Given the description of an element on the screen output the (x, y) to click on. 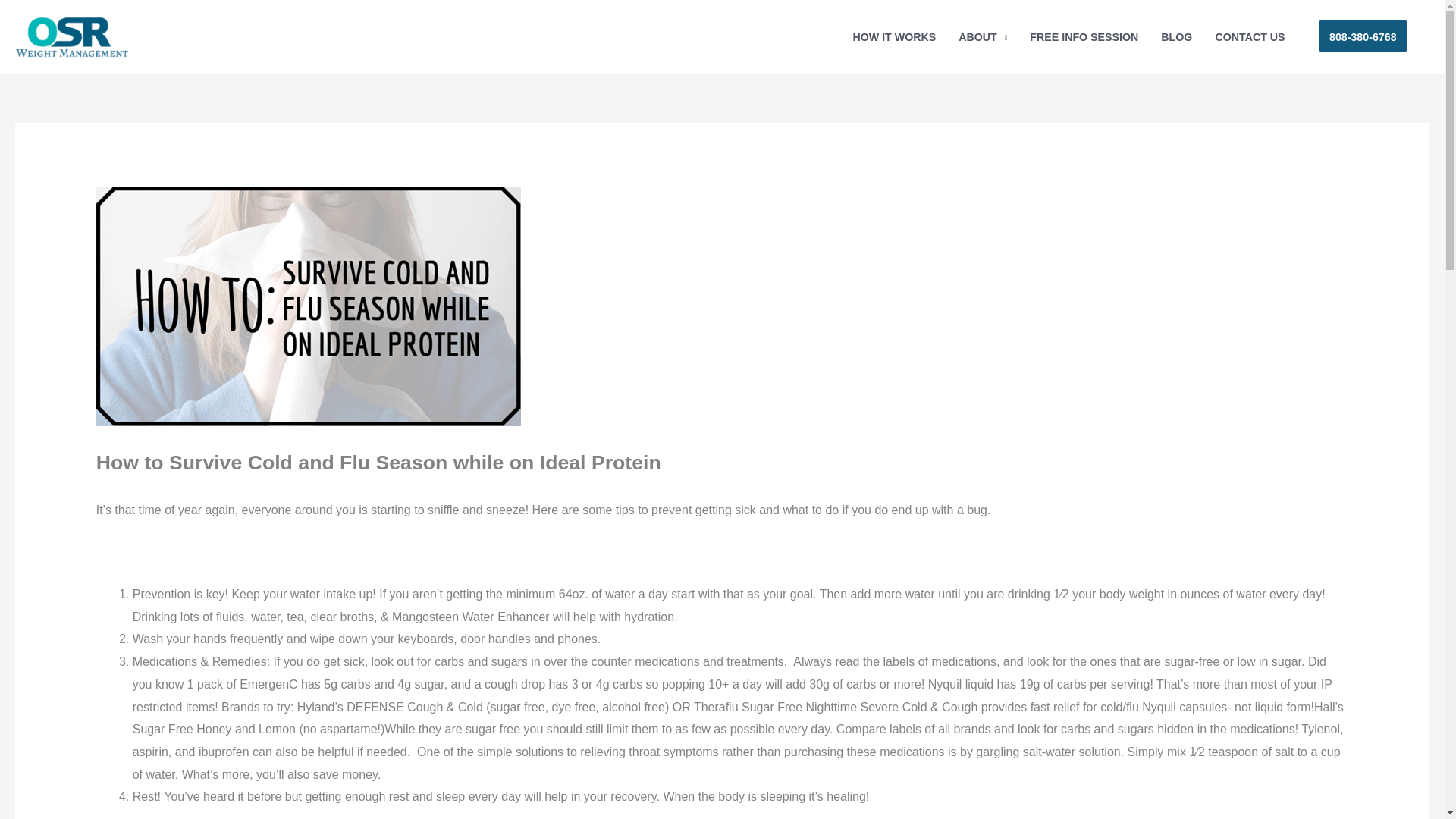
FREE INFO SESSION (1083, 37)
CONTACT US (1249, 37)
HOW IT WORKS (894, 37)
808-380-6768 (1363, 35)
808-380-6768 (1362, 36)
ABOUT (982, 37)
